Given the description of an element on the screen output the (x, y) to click on. 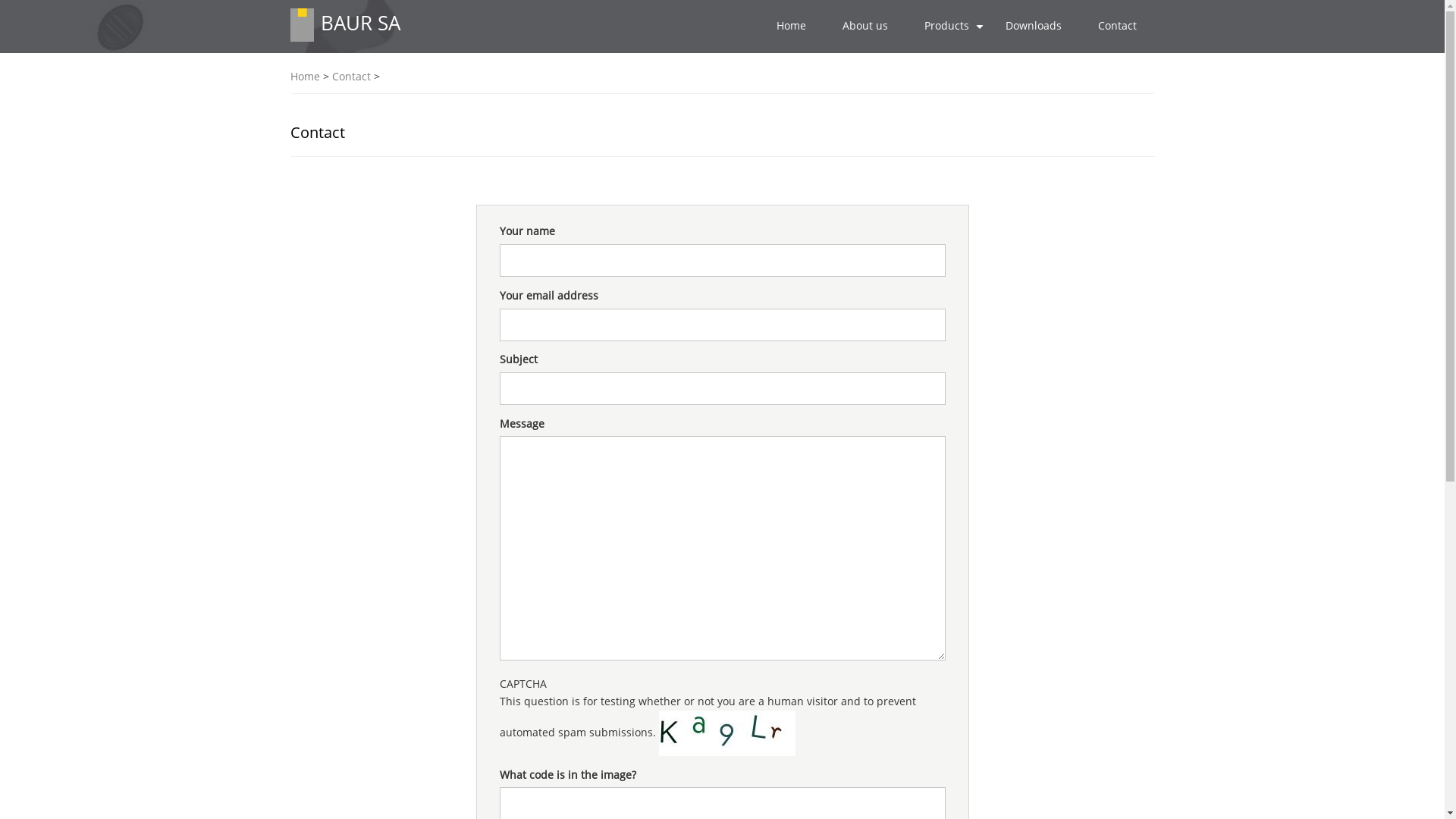
Contact Element type: text (1116, 25)
+
Products Element type: text (945, 25)
About us Element type: text (864, 25)
Skip to main content Element type: text (0, 0)
Image CAPTCHA Element type: hover (726, 733)
Home Element type: text (791, 25)
Contact Element type: text (351, 76)
Home Element type: text (304, 76)
Home Element type: hover (301, 24)
BAUR SA Element type: text (359, 22)
Downloads Element type: text (1033, 25)
